Given the description of an element on the screen output the (x, y) to click on. 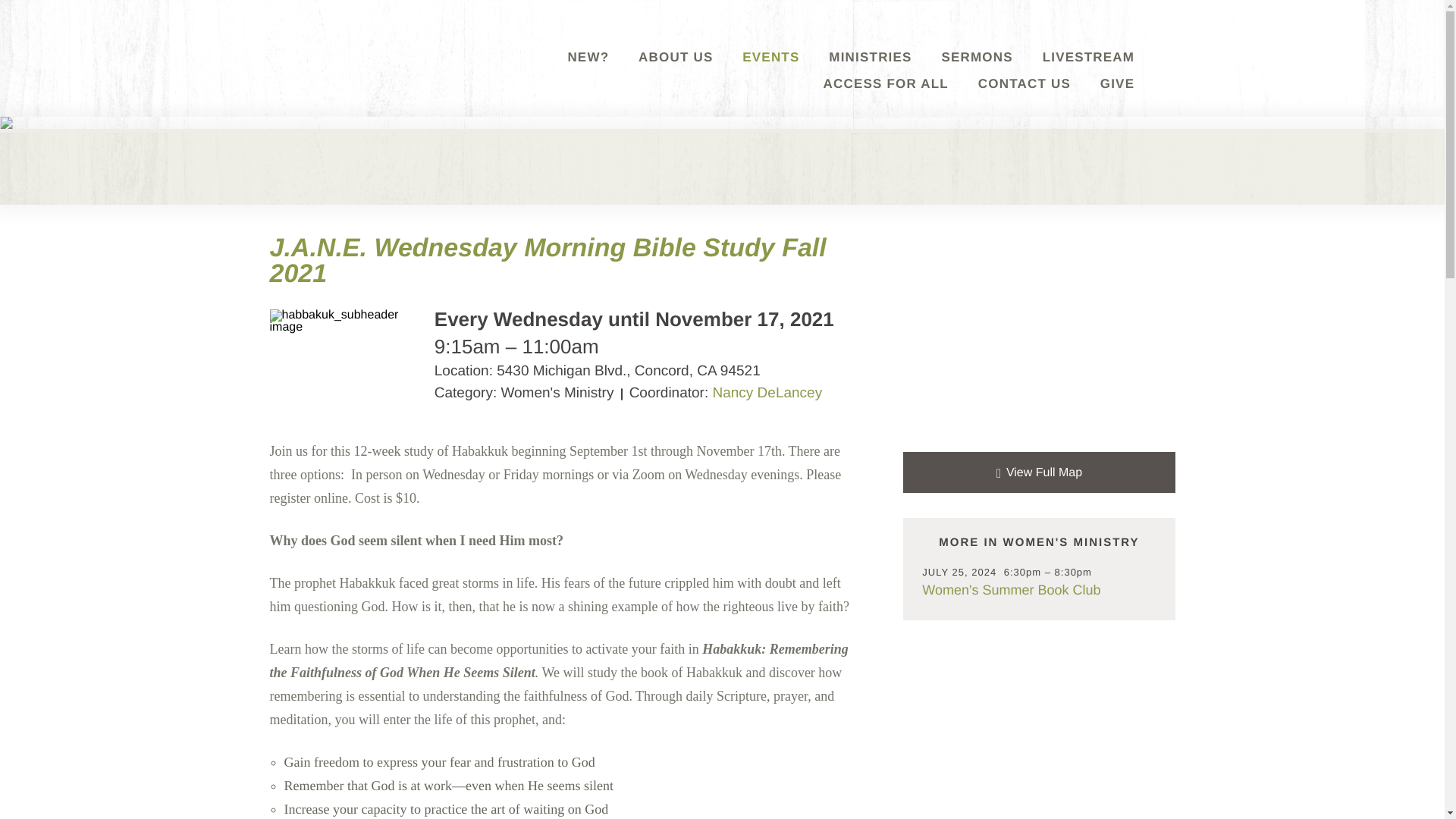
SERMONS (975, 72)
NEW? (587, 72)
EVENTS (770, 72)
MINISTRIES (869, 72)
CONTACT US (1024, 98)
ABOUT US (676, 72)
LIVESTREAM (1088, 72)
ACCESS FOR ALL (886, 98)
